Given the description of an element on the screen output the (x, y) to click on. 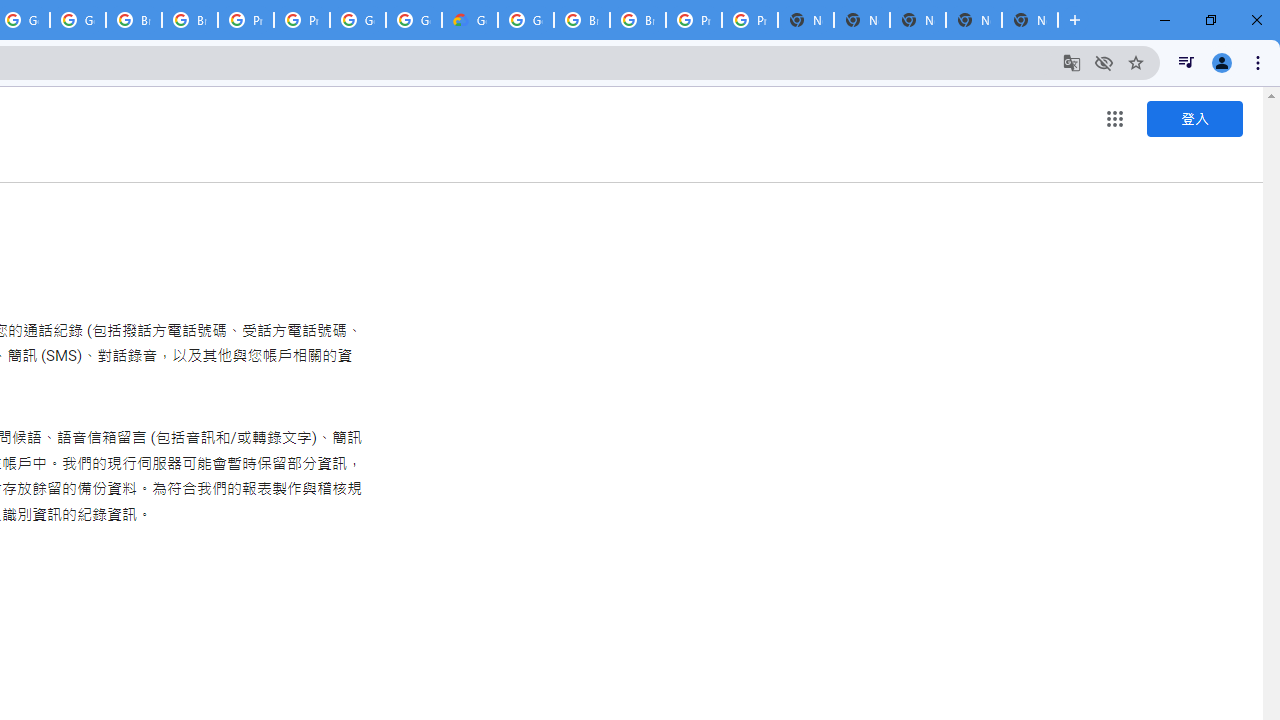
Google Cloud Platform (358, 20)
New Tab (1030, 20)
Translate this page (1071, 62)
